Given the description of an element on the screen output the (x, y) to click on. 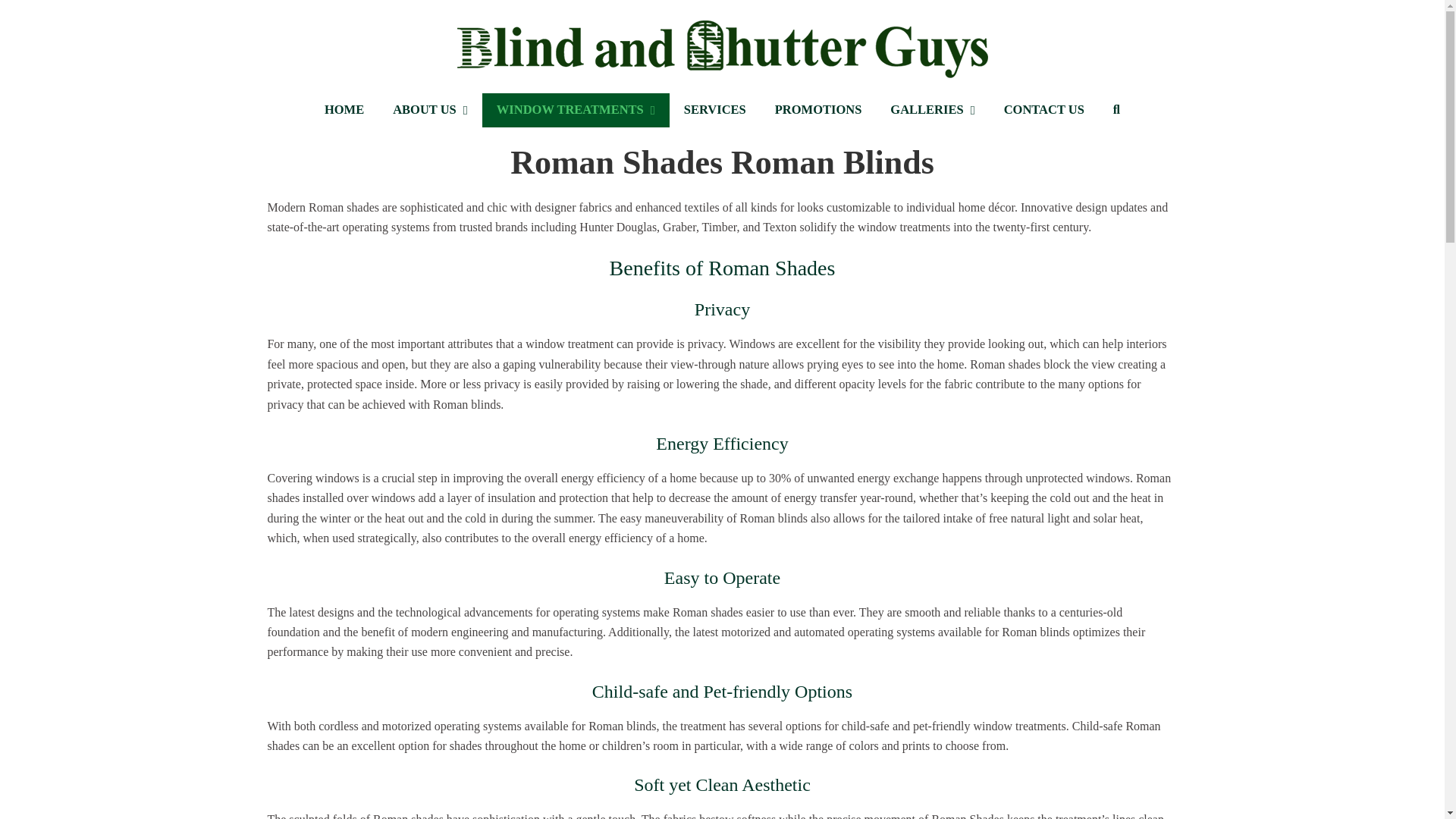
GALLERIES (932, 110)
ABOUT US (429, 110)
HOME (344, 110)
Search (1116, 110)
SERVICES (714, 110)
PROMOTIONS (818, 110)
WINDOW TREATMENTS (575, 110)
